Given the description of an element on the screen output the (x, y) to click on. 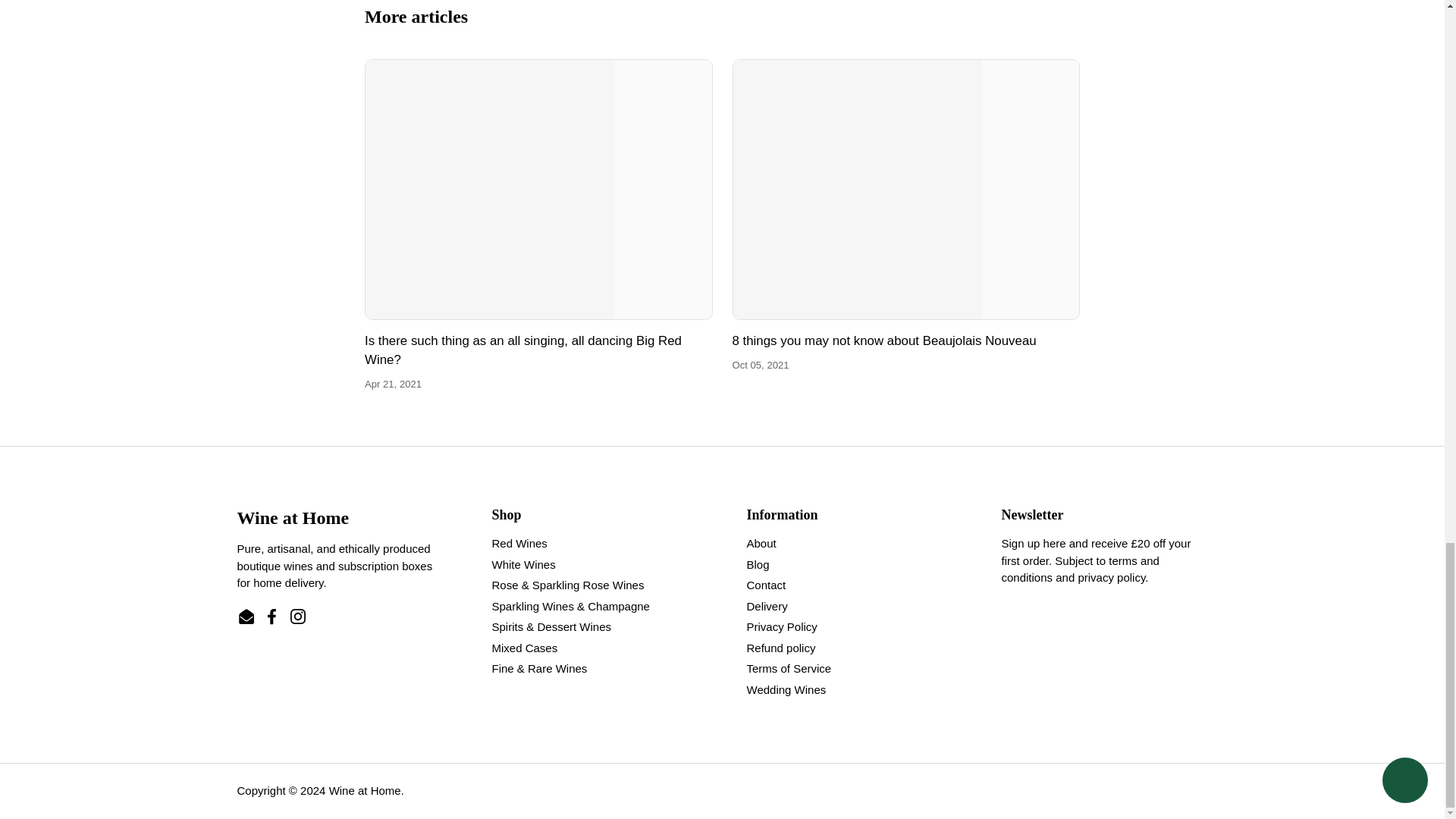
8 things you may not know about Beaujolais Nouveau (884, 340)
Privacy Policy (1110, 576)
8 things you may not know about Beaujolais Nouveau (906, 189)
